Given the description of an element on the screen output the (x, y) to click on. 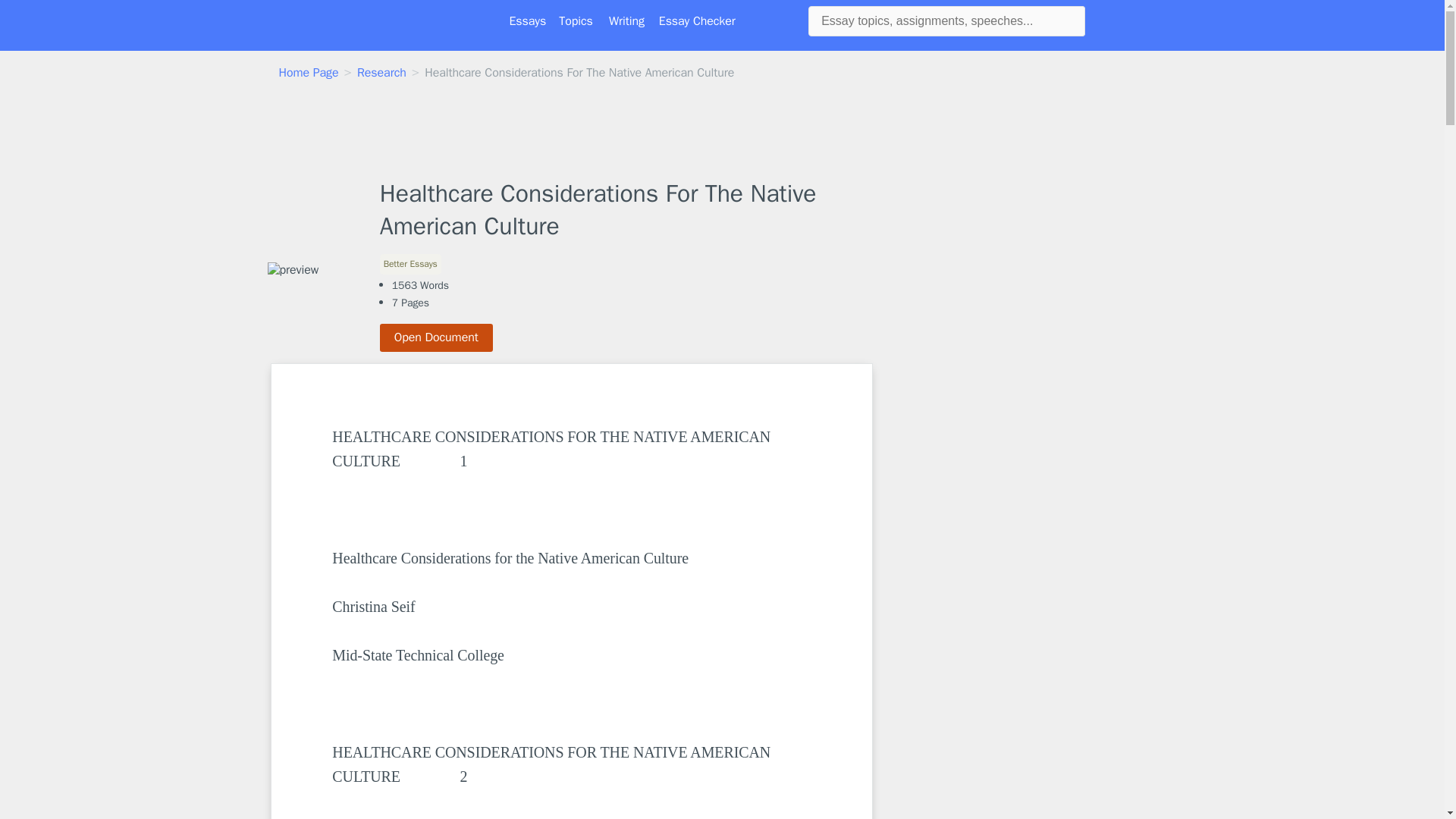
Essay Checker (697, 20)
Research (381, 72)
Writing (626, 20)
Topics (575, 20)
Essays (528, 20)
Open Document (436, 337)
Home Page (309, 72)
